Given the description of an element on the screen output the (x, y) to click on. 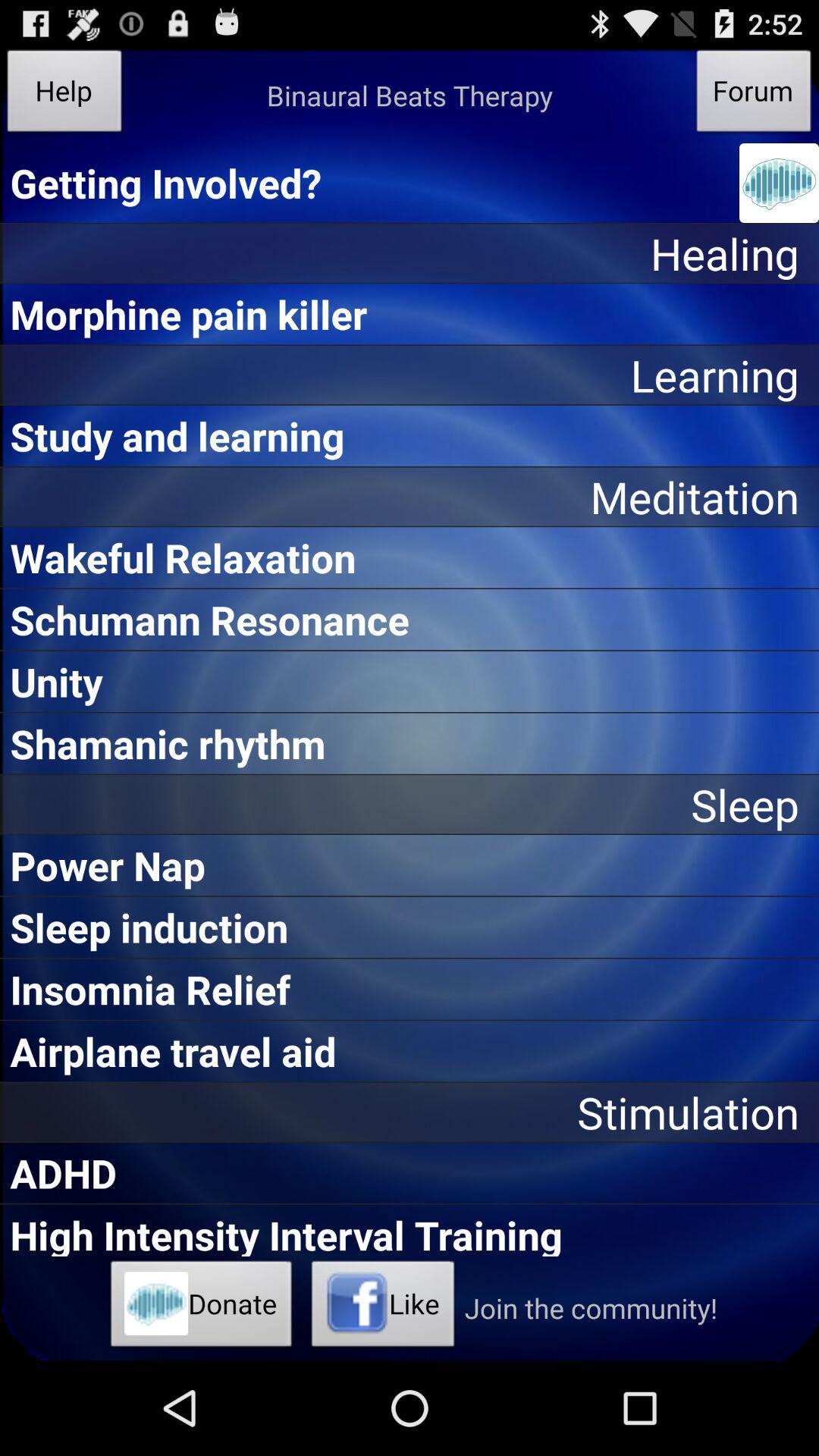
launch the item at the bottom left corner (201, 1308)
